Given the description of an element on the screen output the (x, y) to click on. 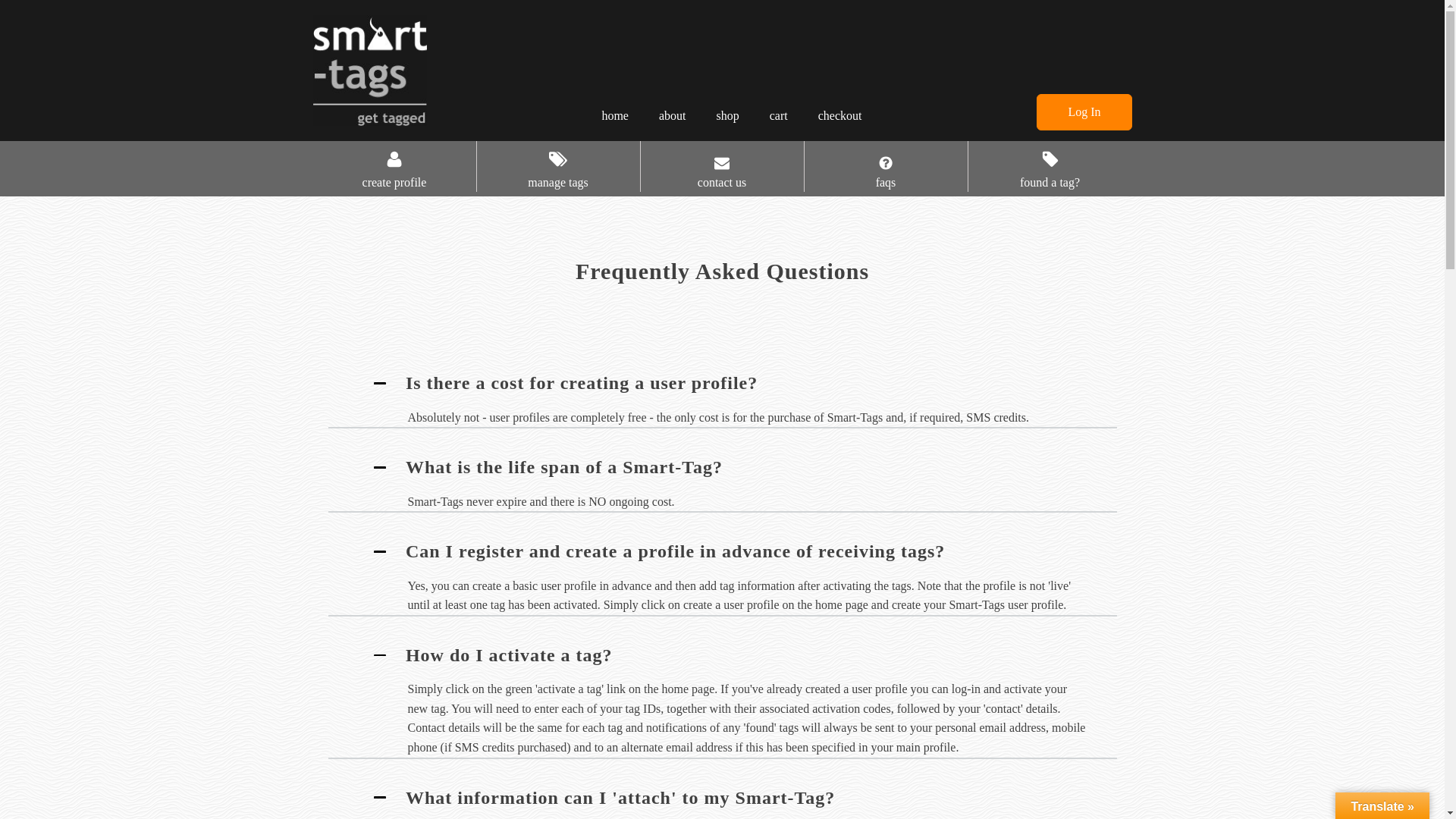
checkout (840, 115)
home (614, 115)
create profile (394, 180)
found a tag? (1050, 180)
cart (778, 115)
contact us (721, 181)
Log In (1083, 112)
shop (727, 115)
faqs (886, 181)
about (672, 115)
manage tags (557, 180)
